Given the description of an element on the screen output the (x, y) to click on. 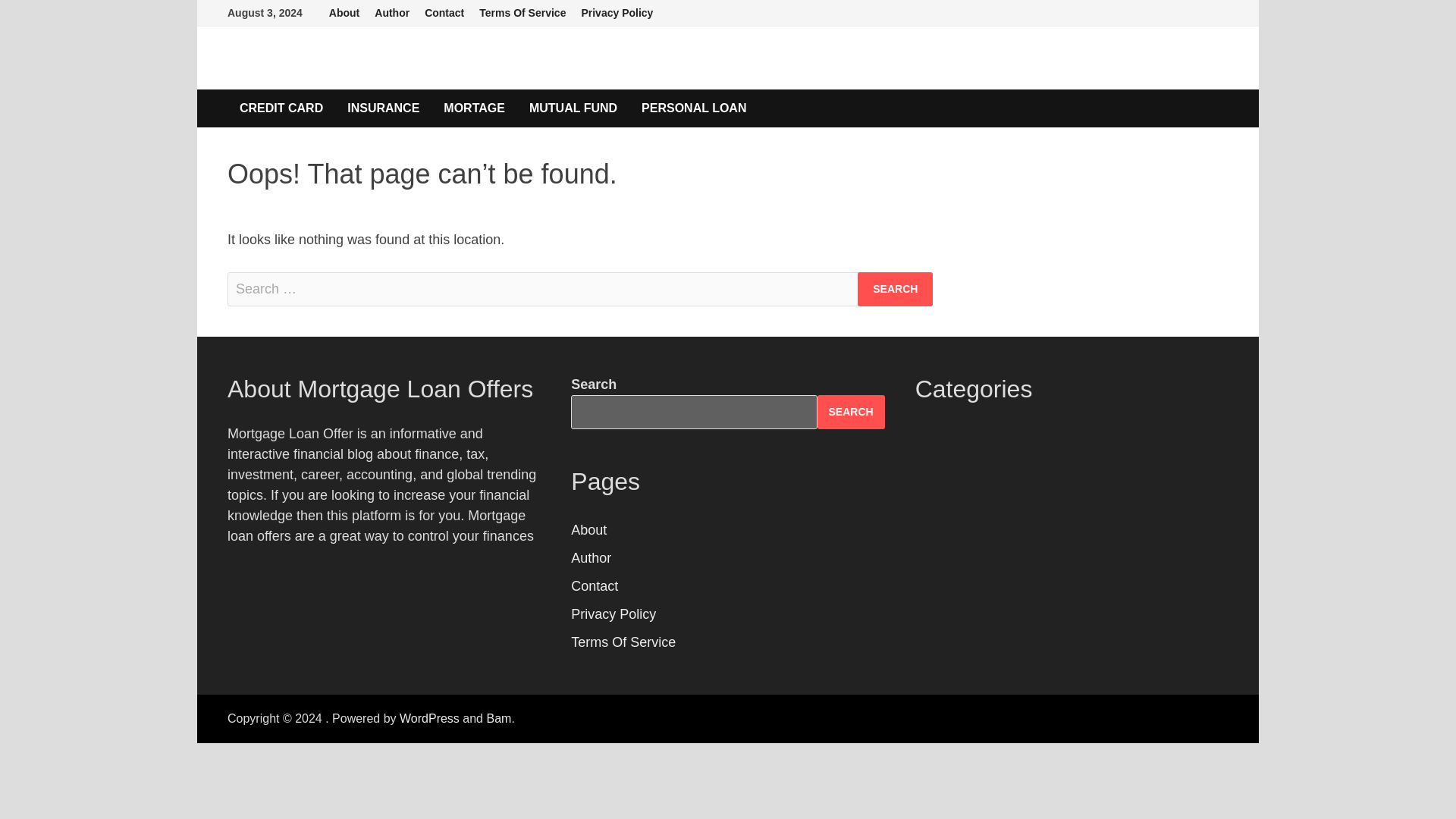
PERSONAL LOAN (693, 108)
Bam (498, 717)
Privacy Policy (617, 13)
Terms Of Service (622, 642)
MORTAGE (473, 108)
SEARCH (850, 411)
Author (590, 557)
Contact (593, 585)
Contact (443, 13)
About (343, 13)
